Given the description of an element on the screen output the (x, y) to click on. 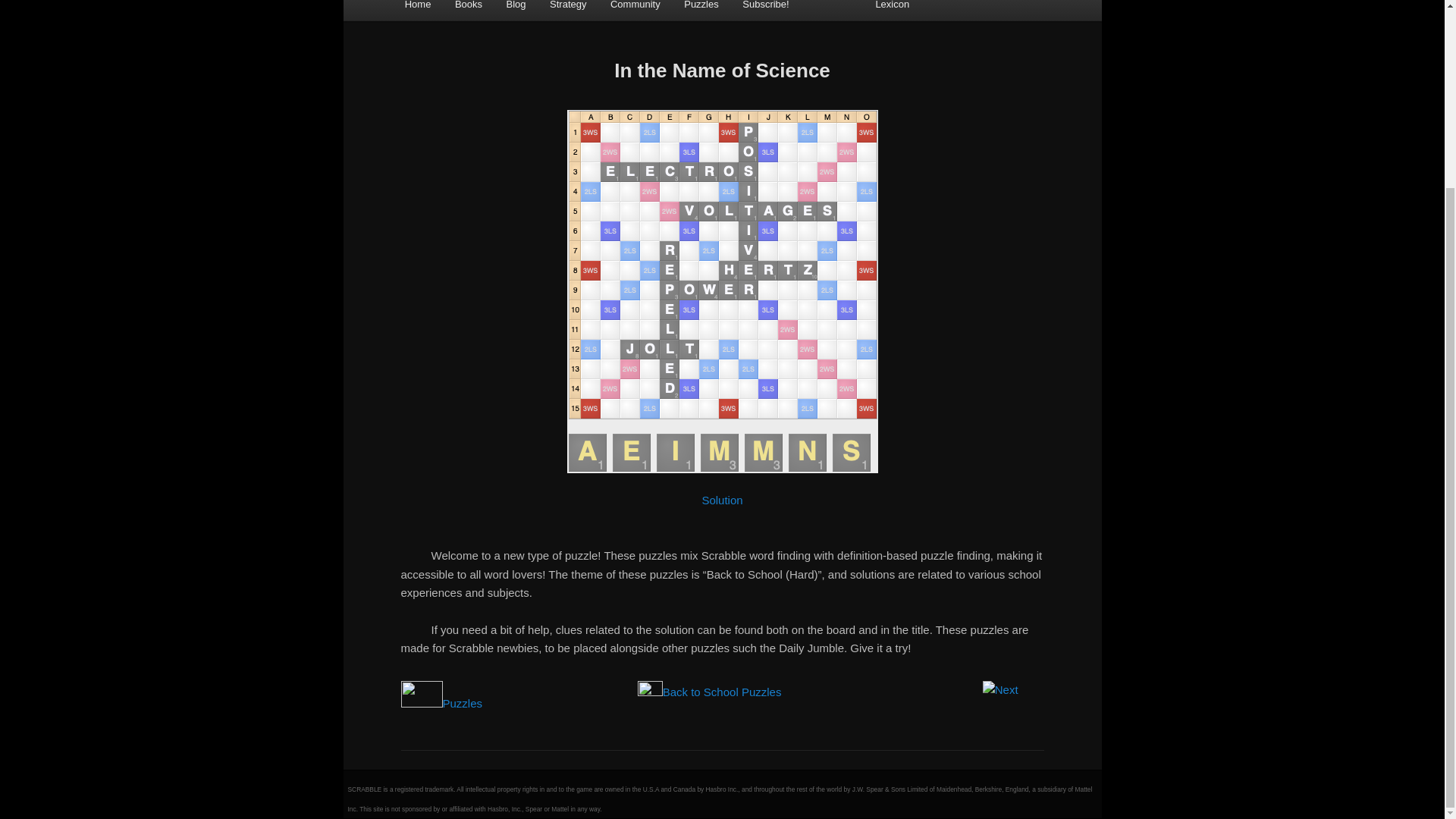
Puzzles (462, 703)
Books (468, 10)
Lexicon (892, 10)
Puzzles (700, 10)
Strategy (567, 10)
Back to School Puzzles (721, 691)
Community (634, 10)
Subscribe! (766, 10)
Home (417, 10)
Solution (721, 499)
ext (999, 689)
Blog (516, 10)
